Given the description of an element on the screen output the (x, y) to click on. 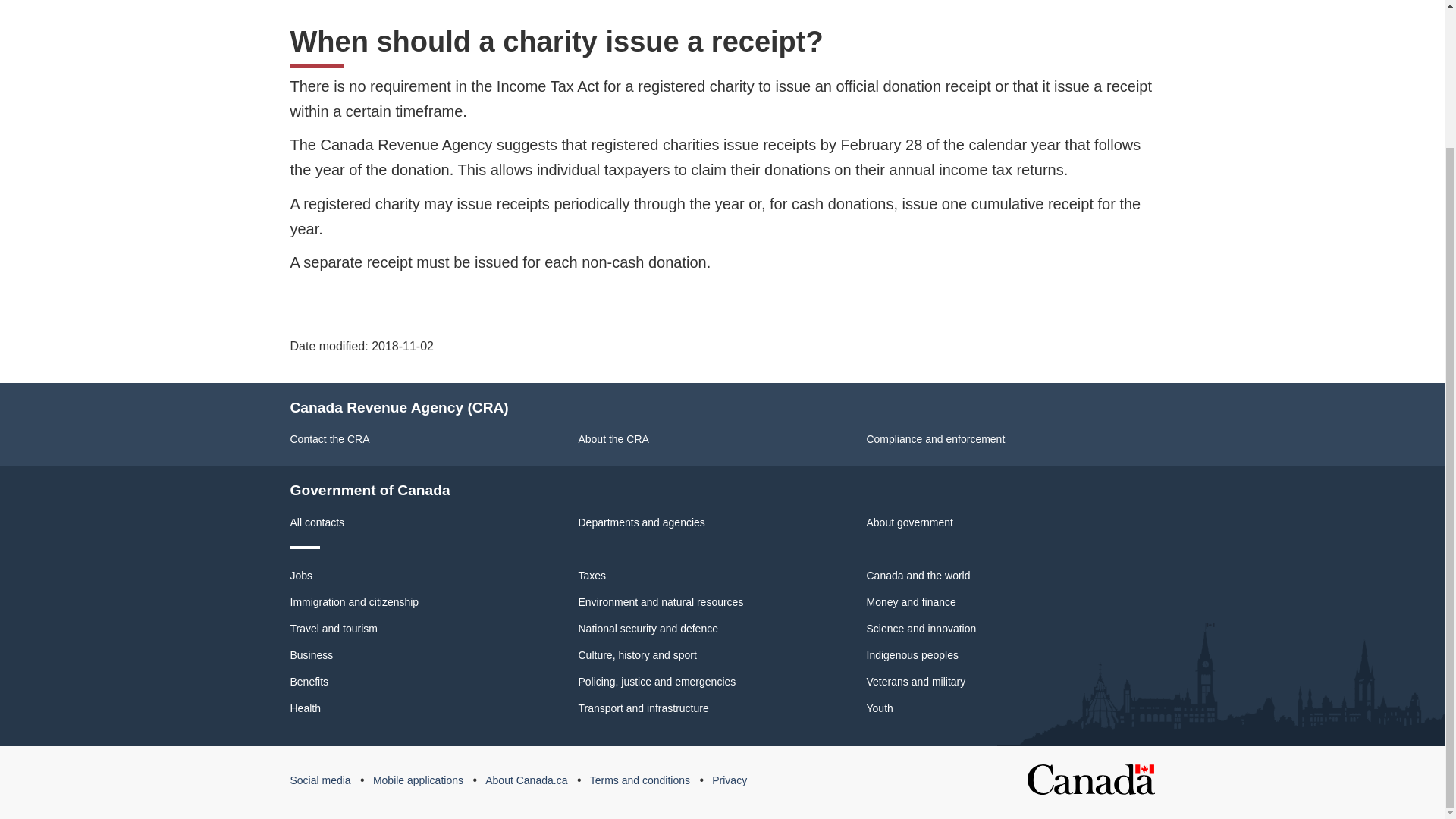
Compliance and enforcement (935, 439)
Immigration and citizenship (354, 602)
All contacts (316, 522)
Business (311, 654)
Taxes (591, 575)
Health (304, 707)
Departments and agencies (641, 522)
About government (909, 522)
Contact the CRA (329, 439)
Benefits (309, 681)
